Given the description of an element on the screen output the (x, y) to click on. 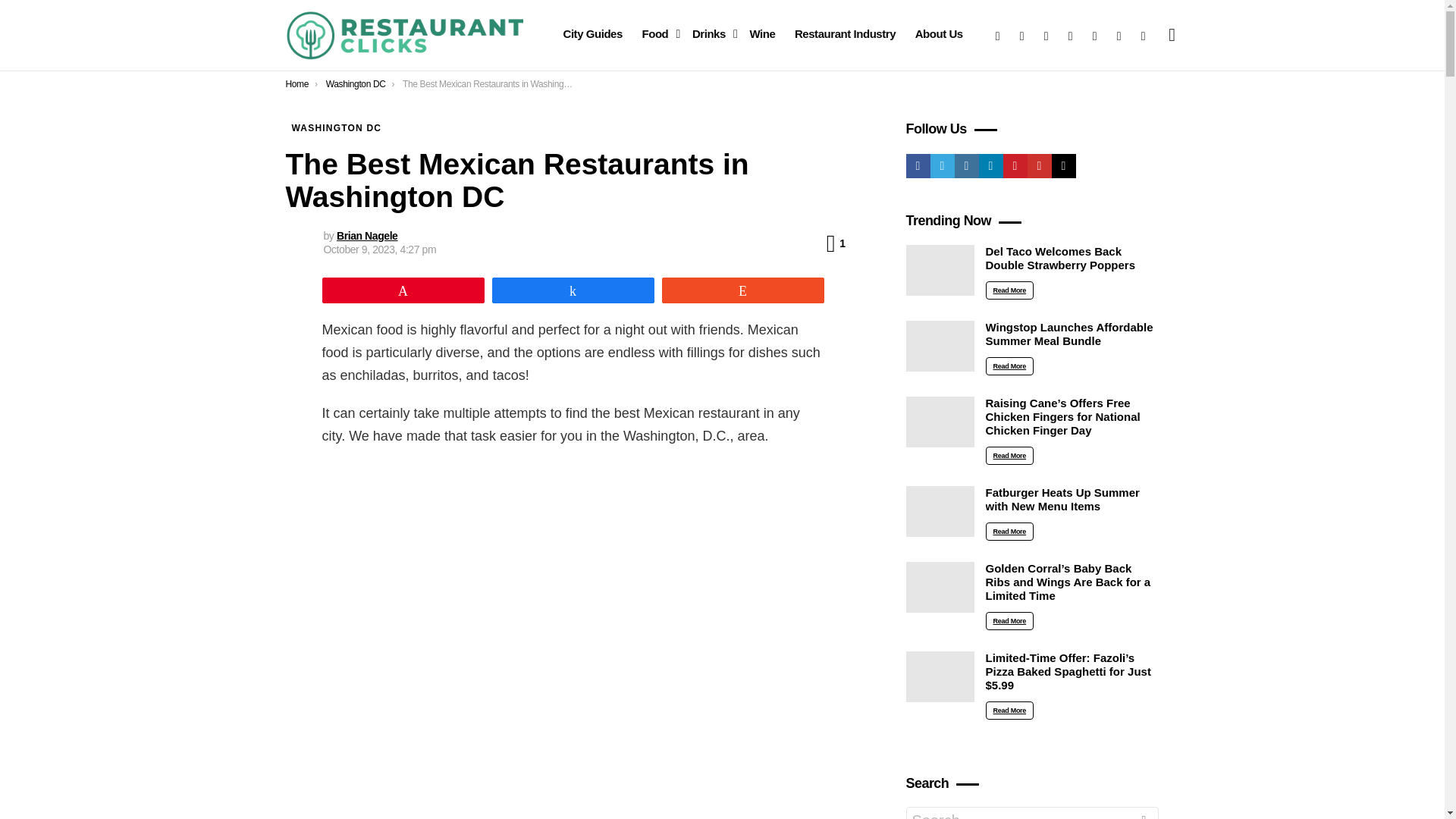
Food (656, 33)
twitter (1021, 34)
Restaurant Industry (844, 33)
City Guides (591, 33)
Brian Nagele (366, 235)
About Us (836, 242)
Posts by Brian Nagele (939, 33)
Drinks (366, 235)
pinterest (711, 33)
tiktok (1094, 34)
Wine (1143, 34)
WASHINGTON DC (762, 33)
Home (336, 127)
youtube (296, 83)
